Given the description of an element on the screen output the (x, y) to click on. 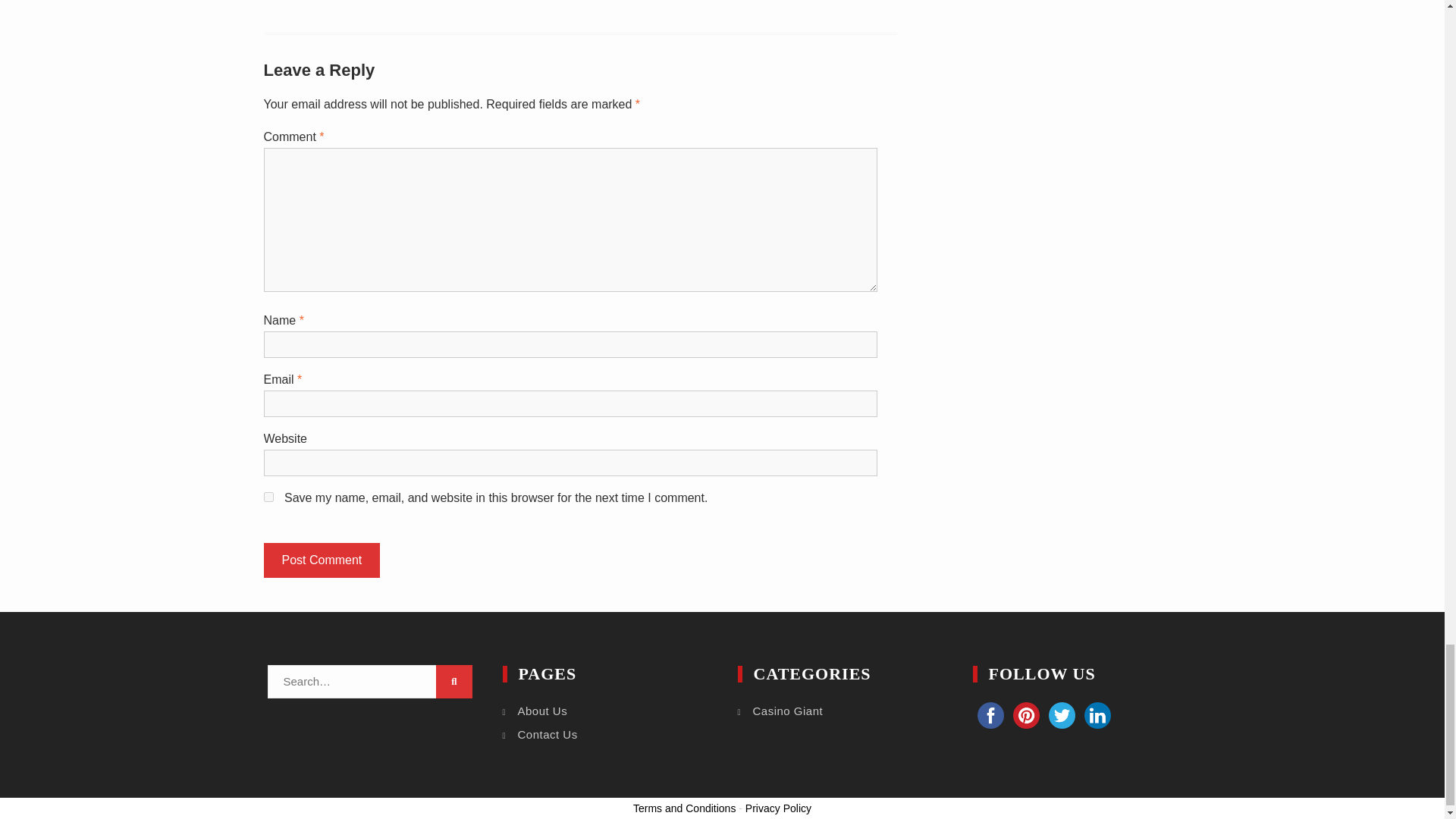
Twitter (1060, 715)
Post Comment (321, 560)
yes (268, 497)
Post Comment (321, 560)
Search for: (368, 682)
Facebook (989, 715)
LinkedIn (1097, 715)
Pinterest (1026, 715)
